Given the description of an element on the screen output the (x, y) to click on. 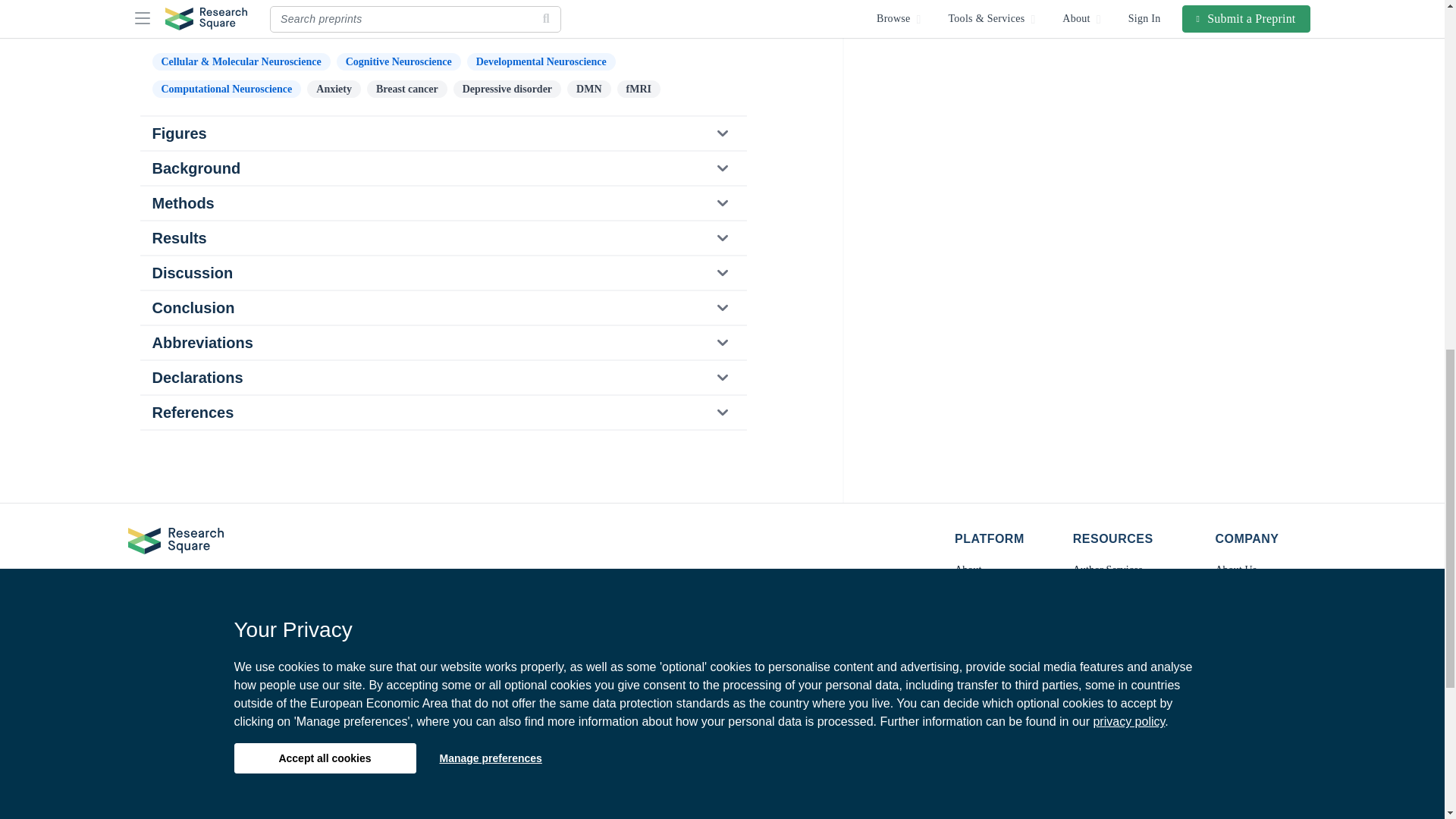
Discussion (442, 272)
Computational Neuroscience (226, 88)
Methods (442, 203)
Cognitive Neuroscience (398, 61)
Results (442, 237)
Figures (442, 133)
Developmental Neuroscience (541, 61)
Background (442, 168)
